Given the description of an element on the screen output the (x, y) to click on. 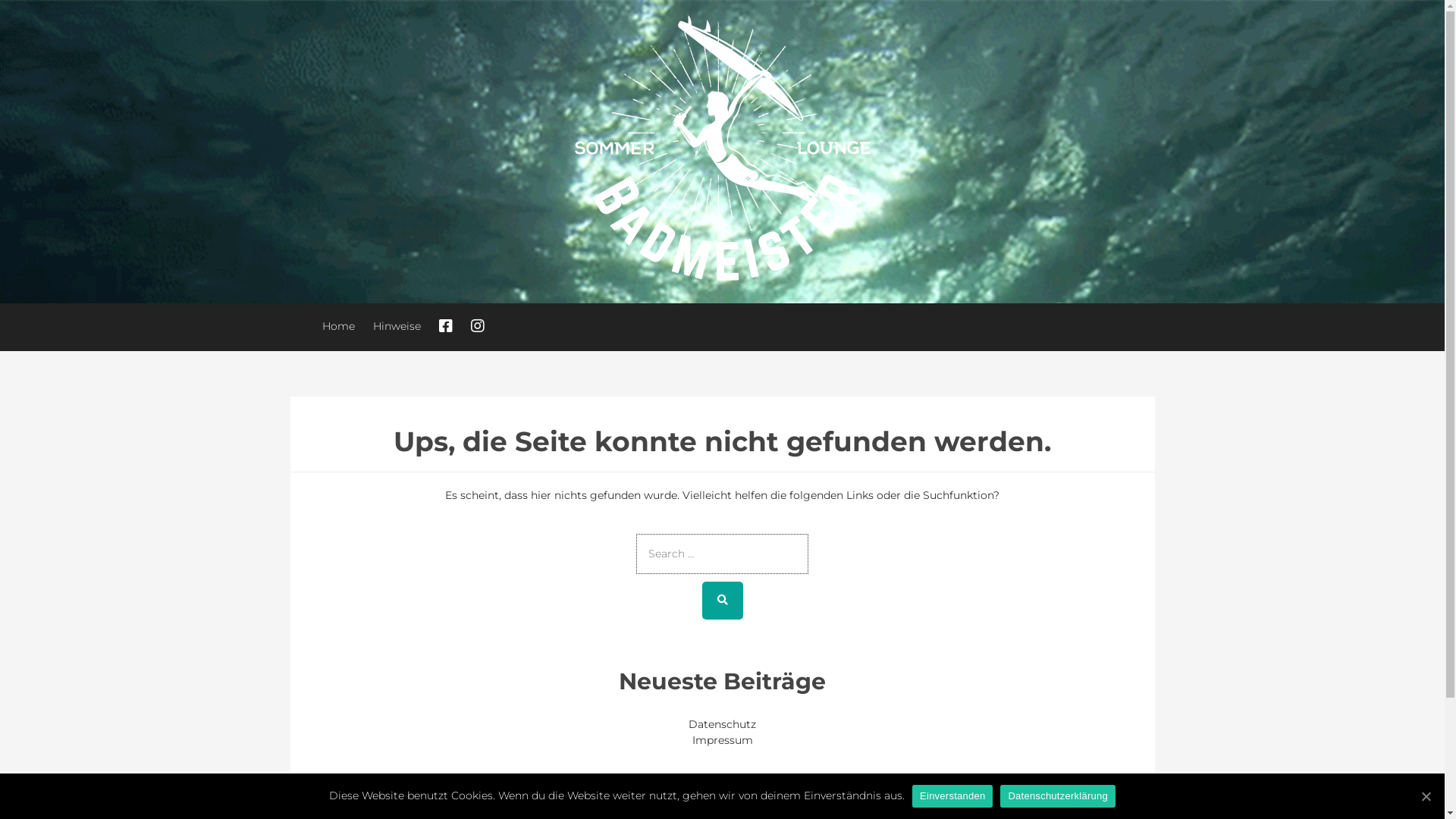
Impressum Element type: text (721, 739)
Search for: Element type: hover (722, 553)
Datenschutz Element type: text (722, 724)
Hinweise Element type: text (396, 326)
Einverstanden Element type: text (952, 795)
Direkt zum Inhalt Element type: text (0, 0)
Home Element type: text (337, 326)
